Given the description of an element on the screen output the (x, y) to click on. 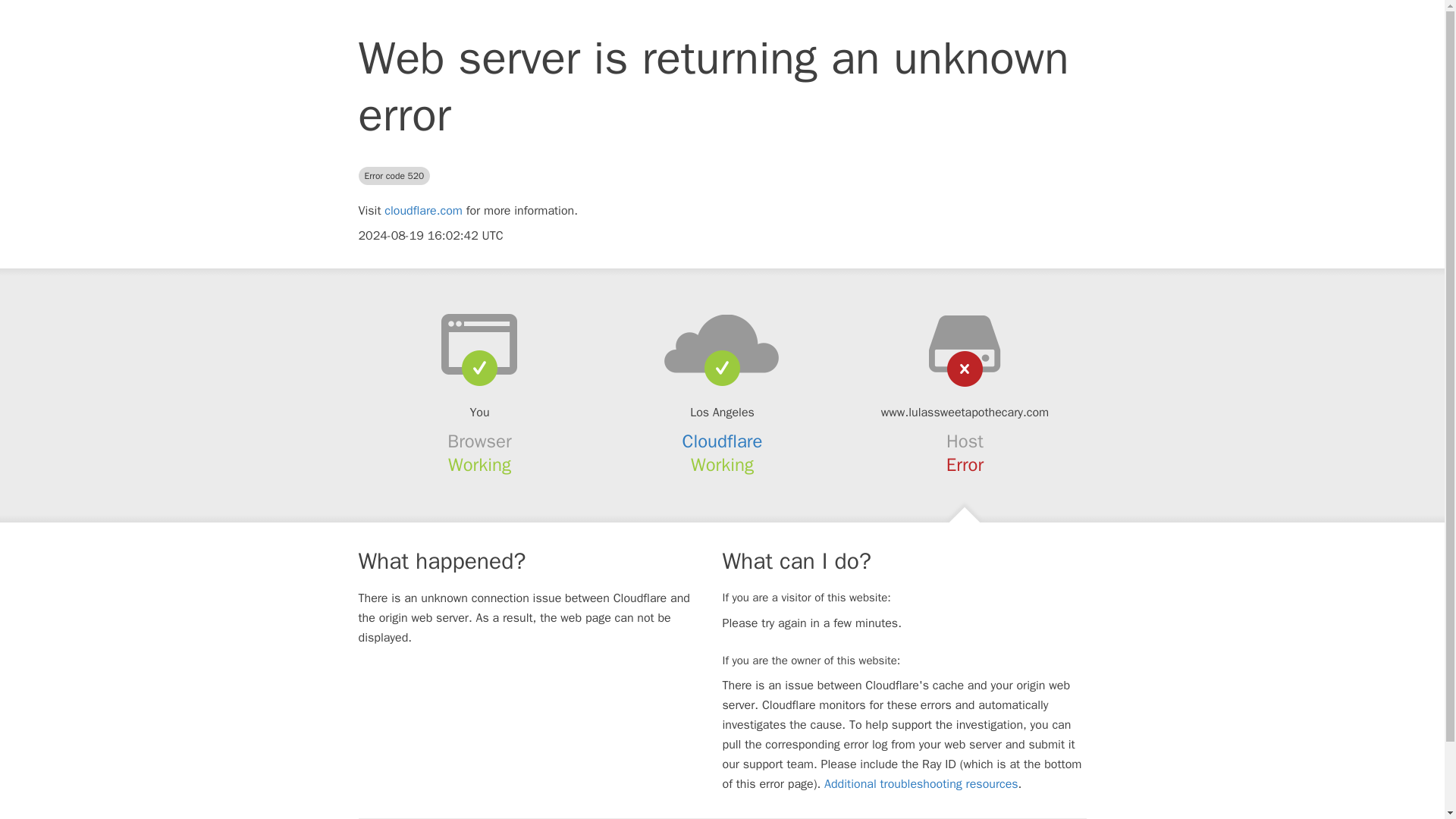
Additional troubleshooting resources (920, 783)
Cloudflare (722, 440)
cloudflare.com (423, 210)
